Given the description of an element on the screen output the (x, y) to click on. 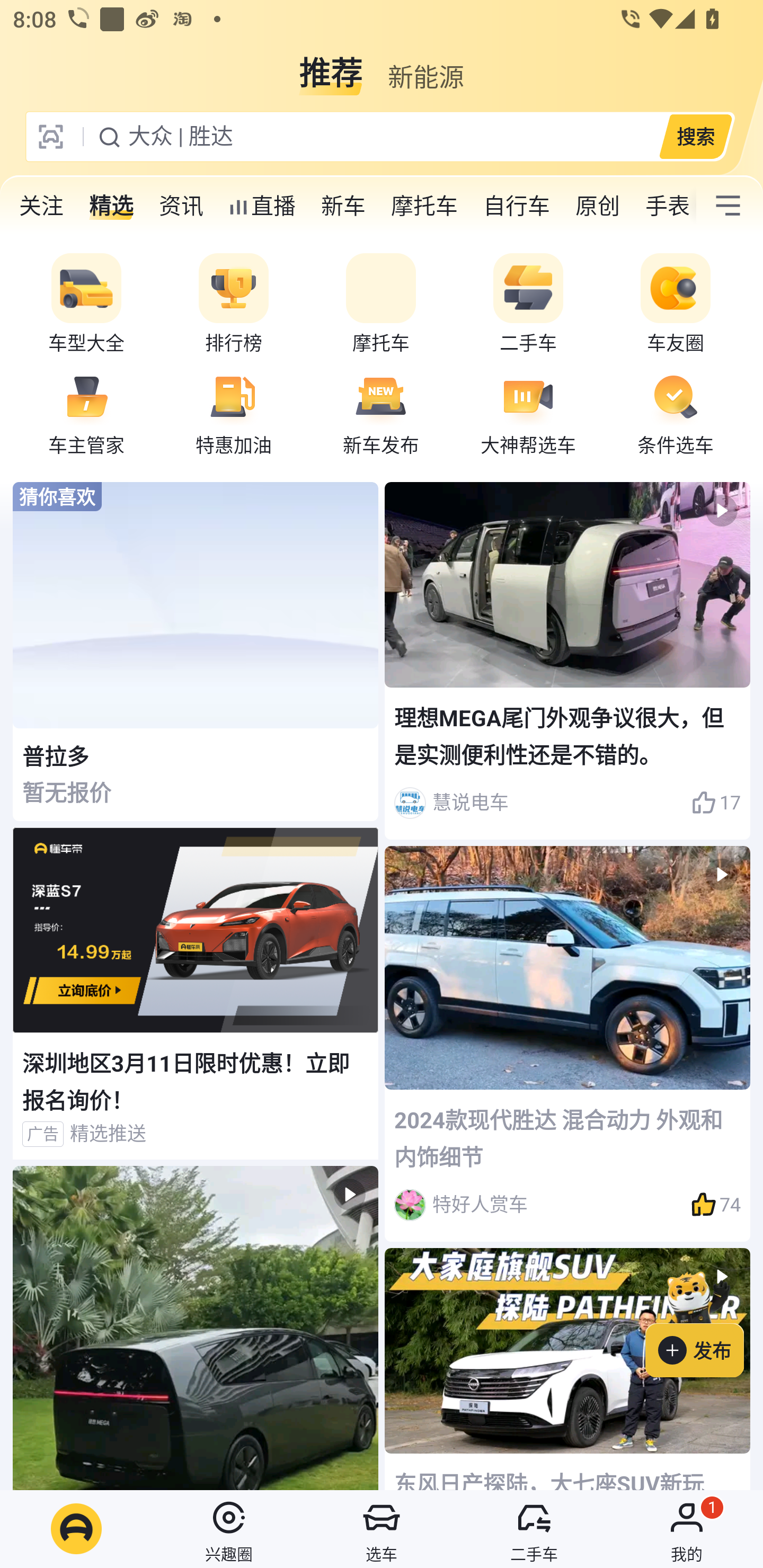
推荐 (330, 65)
新能源 (425, 65)
搜索 (695, 136)
关注 (41, 205)
精选 (111, 205)
资讯 (180, 205)
直播 (261, 205)
新车 (343, 205)
摩托车 (424, 205)
自行车 (516, 205)
原创 (597, 205)
手表 (663, 205)
 (727, 205)
车型大全 (86, 303)
排行榜 (233, 303)
摩托车 (380, 303)
二手车 (528, 303)
车友圈 (675, 303)
车主管家 (86, 412)
特惠加油 (233, 412)
新车发布 (380, 412)
大神帮选车 (528, 412)
条件选车 (675, 412)
猜你喜欢 普拉多 暂无报价 (195, 651)
 理想MEGA尾门外观争议很大，但是实测便利性还是不错的。 慧说电车 17 (567, 659)
17 (715, 802)
深圳地区3月11日限时优惠！立即报名询价！ 广告 精选推送 (195, 993)
 2024款现代胜达 混合动力 外观和内饰细节 特好人赏车 74 (567, 1043)
 (195, 1327)
74 (715, 1204)
 东风日产探陆，大七座SUV新玩家！ (567, 1368)
发布 (704, 1320)
 兴趣圈 (228, 1528)
 选车 (381, 1528)
 二手车 (533, 1528)
 我的 (686, 1528)
